Given the description of an element on the screen output the (x, y) to click on. 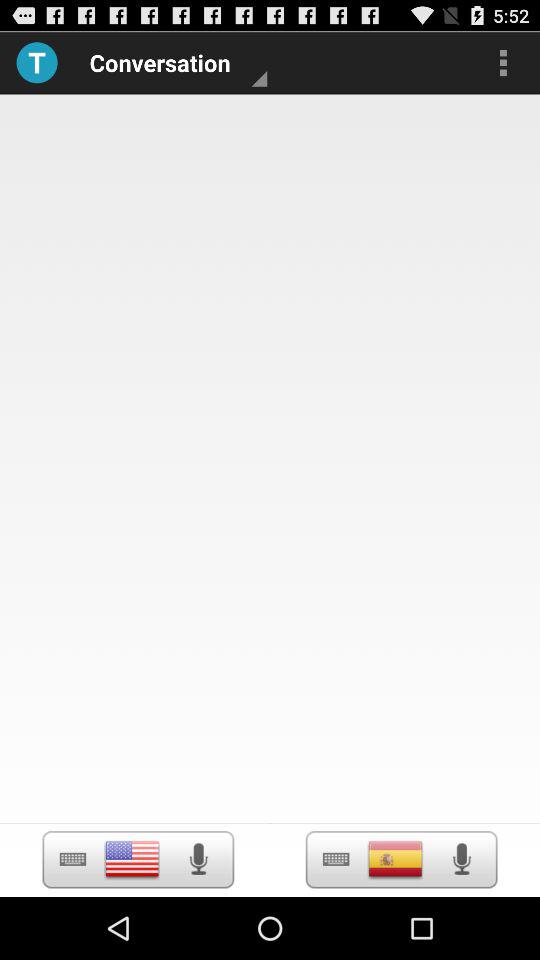
go to voice recording (461, 859)
